Given the description of an element on the screen output the (x, y) to click on. 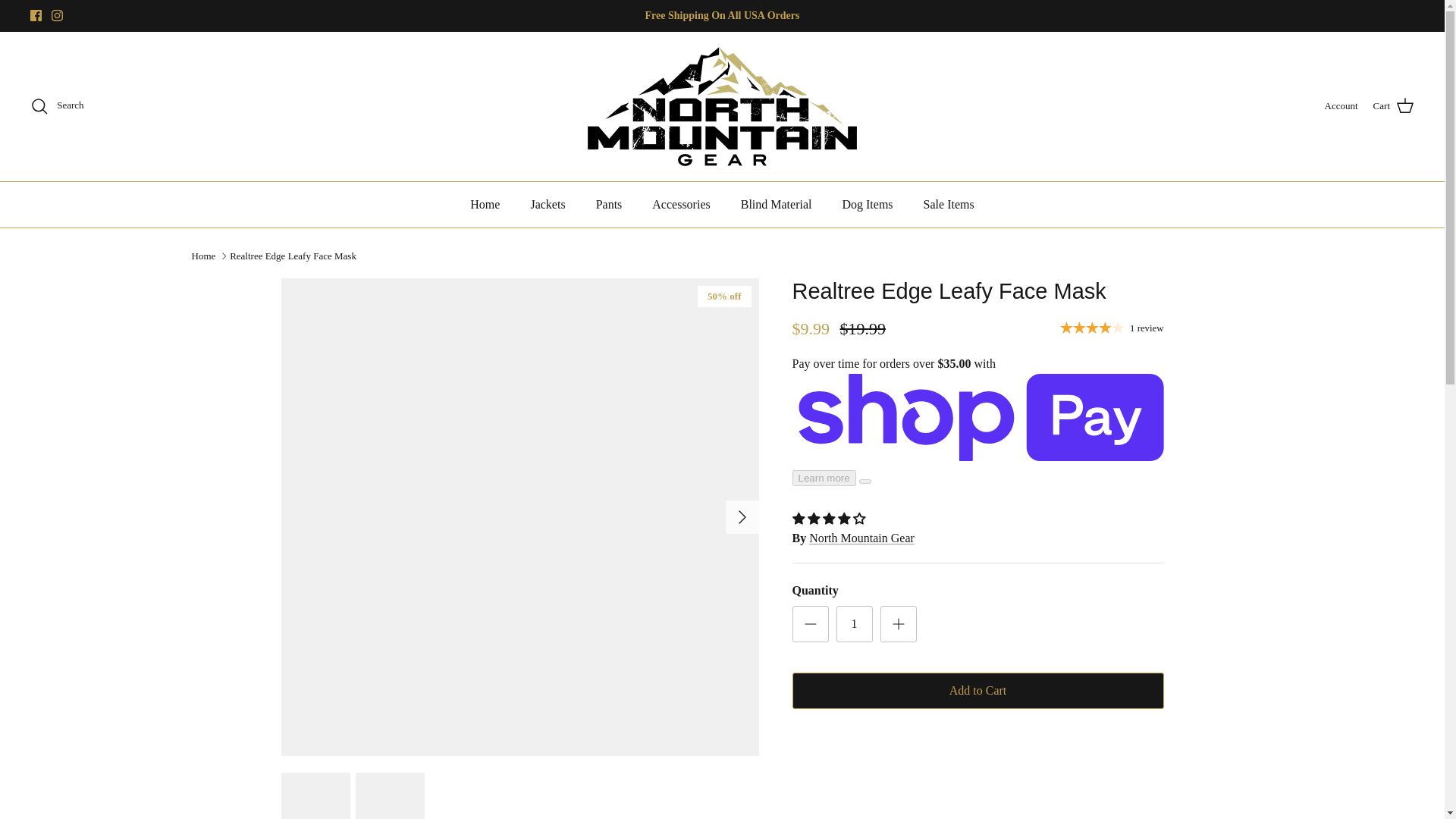
Right (741, 517)
Search (57, 106)
1 (853, 624)
Facebook (36, 15)
Home (485, 204)
Jackets (547, 204)
Cart (1393, 106)
Pants (609, 204)
Minus (809, 624)
Plus (897, 624)
North Mountain Gear (722, 106)
Account (1341, 106)
Instagram (56, 15)
Instagram (56, 15)
Facebook (36, 15)
